Given the description of an element on the screen output the (x, y) to click on. 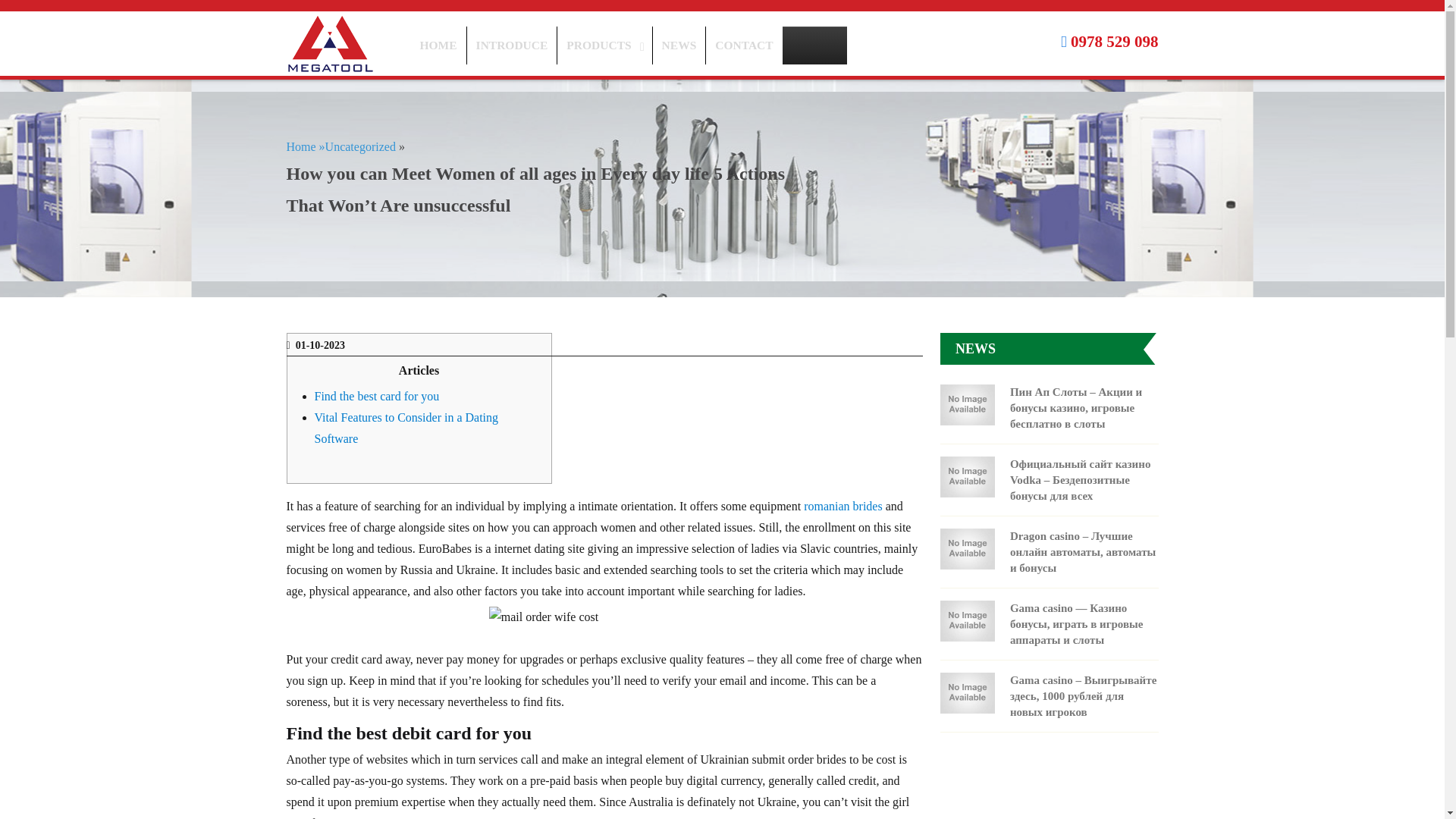
Uncategorized (360, 146)
PRODUCTS (603, 45)
HOME (437, 45)
Vital Features to Consider in a Dating Software (405, 428)
Find the best card for you (376, 395)
0978 529 098 (1114, 41)
NEWS (679, 45)
CONTACT (628, 45)
romanian brides (742, 45)
INTRODUCE (842, 504)
